Given the description of an element on the screen output the (x, y) to click on. 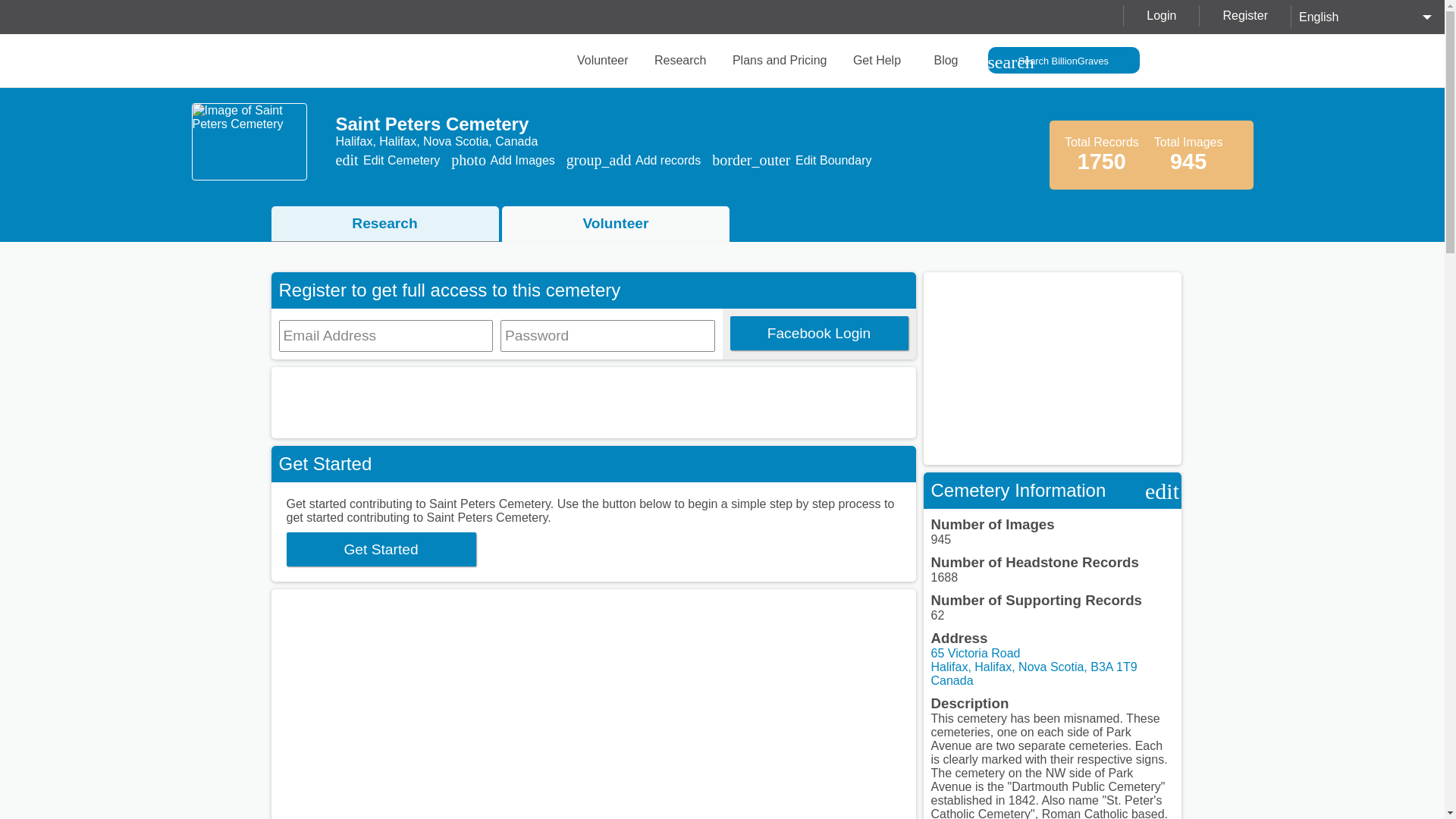
Register (1244, 15)
Blog (941, 60)
Volunteer (615, 223)
Get Help (875, 60)
Research (386, 223)
photo Add Images (502, 160)
Login (1160, 15)
Plans and Pricing (777, 60)
Edit Saint Peters Cemetery (1161, 491)
Facebook Login (818, 333)
Get Started (381, 549)
